Given the description of an element on the screen output the (x, y) to click on. 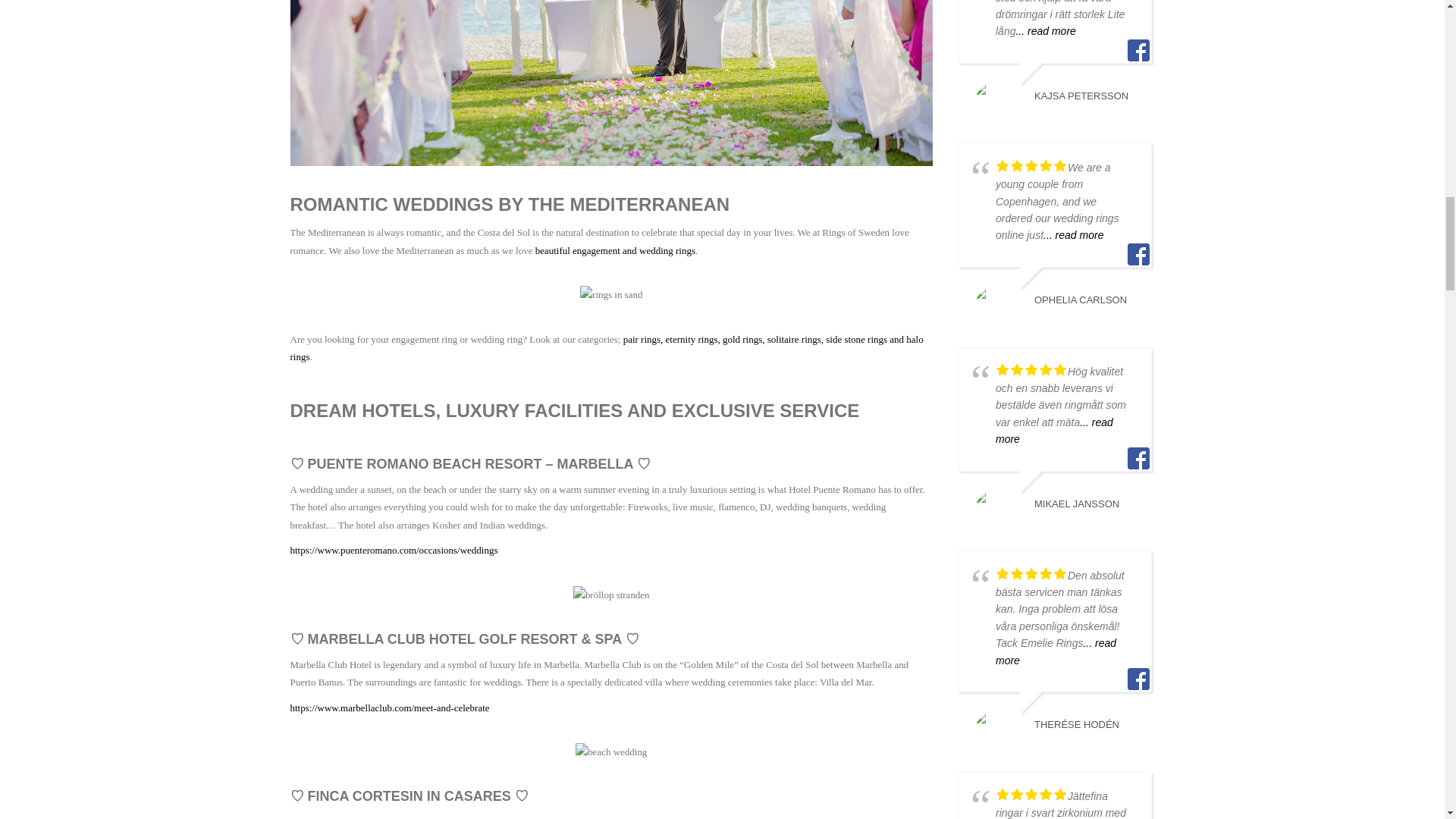
SEA VIEW (611, 595)
COUPLE (610, 751)
WEDDING-DECORATIONS (611, 83)
RINGS SAND (610, 294)
